Given the description of an element on the screen output the (x, y) to click on. 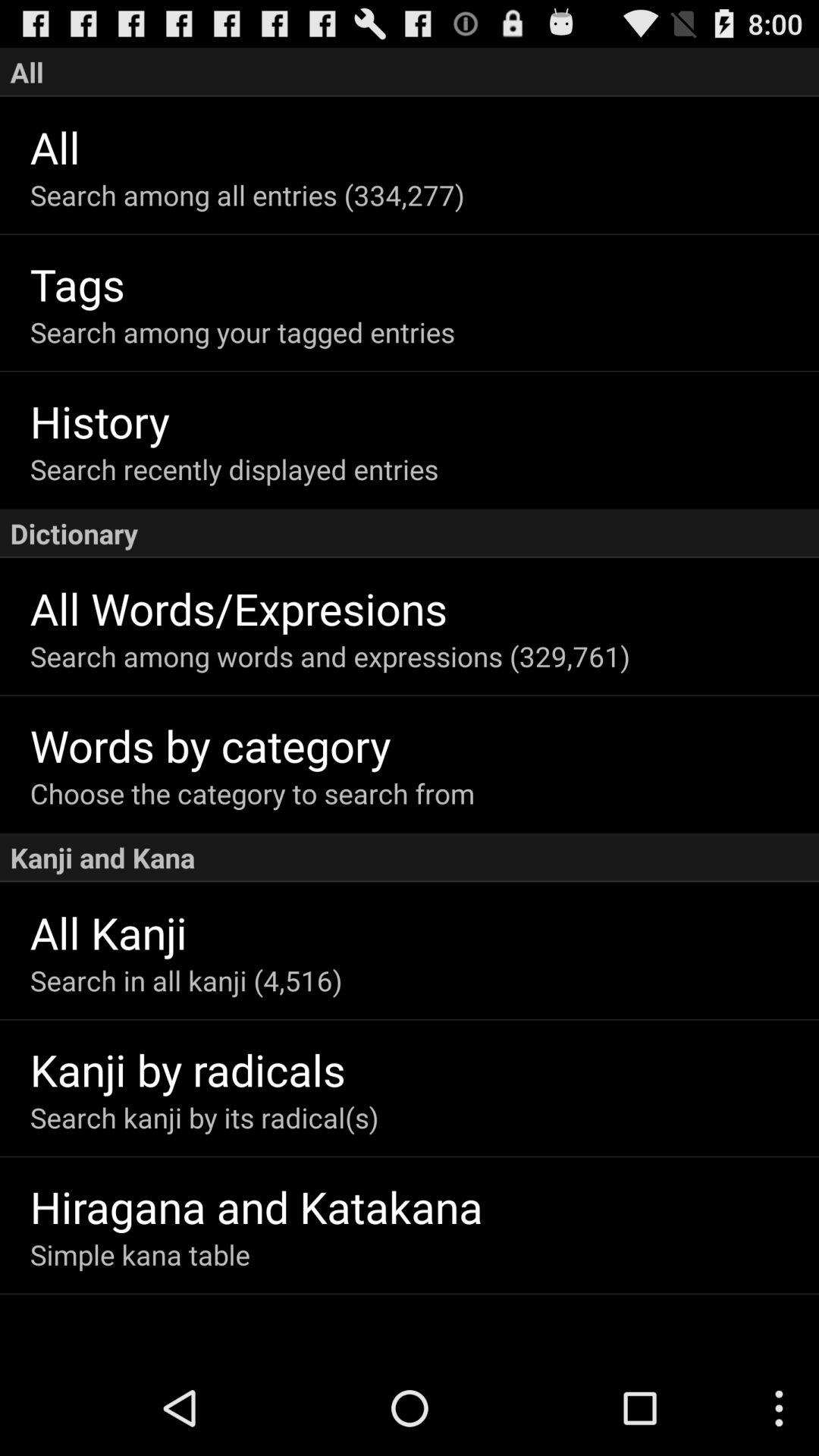
select item below words by category (424, 793)
